Given the description of an element on the screen output the (x, y) to click on. 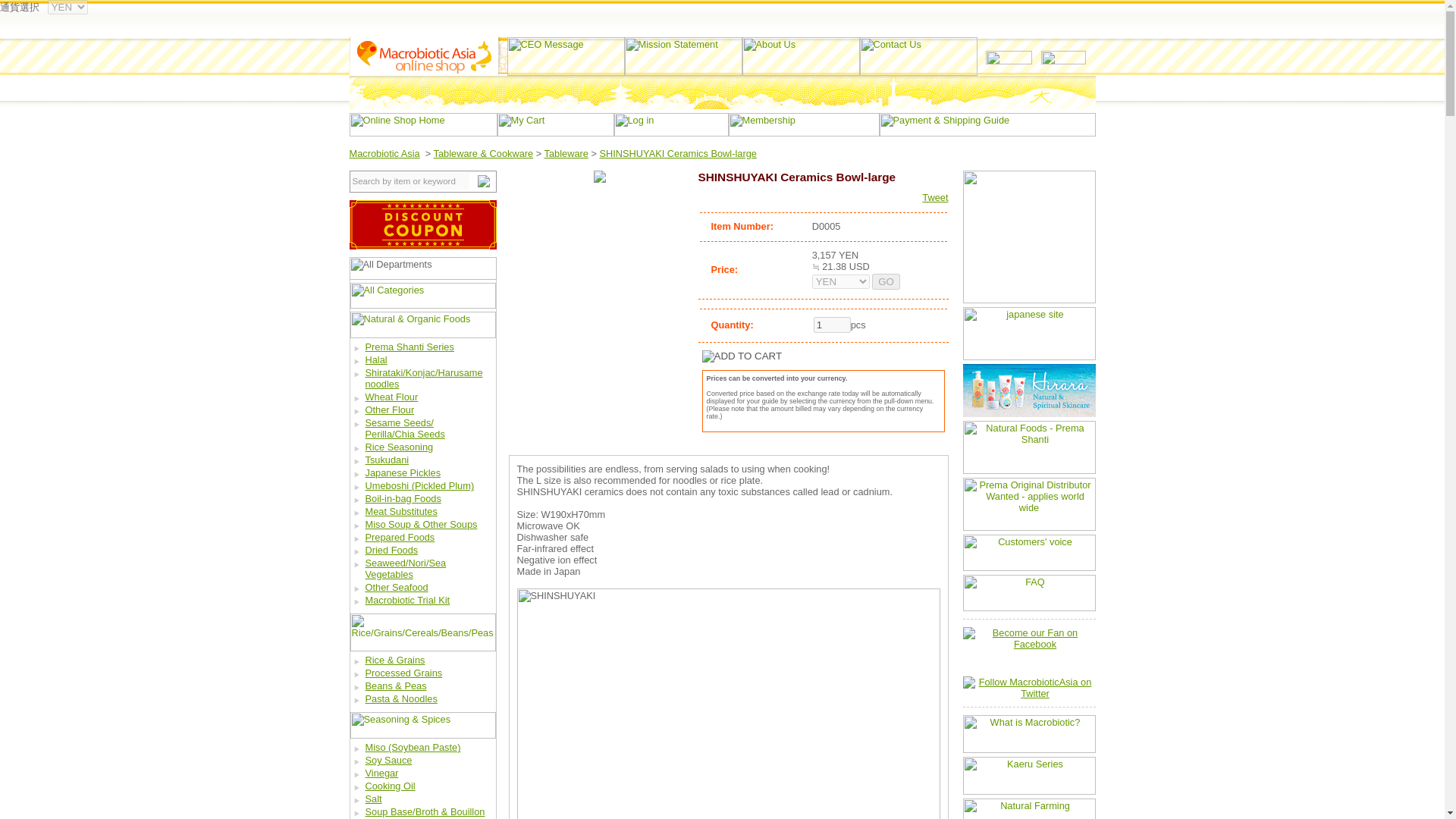
Tweet (934, 197)
Other Flour (389, 409)
GO (885, 281)
Wheat Flour (392, 396)
1 (831, 324)
Prema Shanti Series (409, 346)
SHINSHUYAKI Ceramics Bowl-large (676, 153)
Search (483, 180)
Macrobiotic Asia (384, 153)
Search by item or keyword (409, 180)
